Given the description of an element on the screen output the (x, y) to click on. 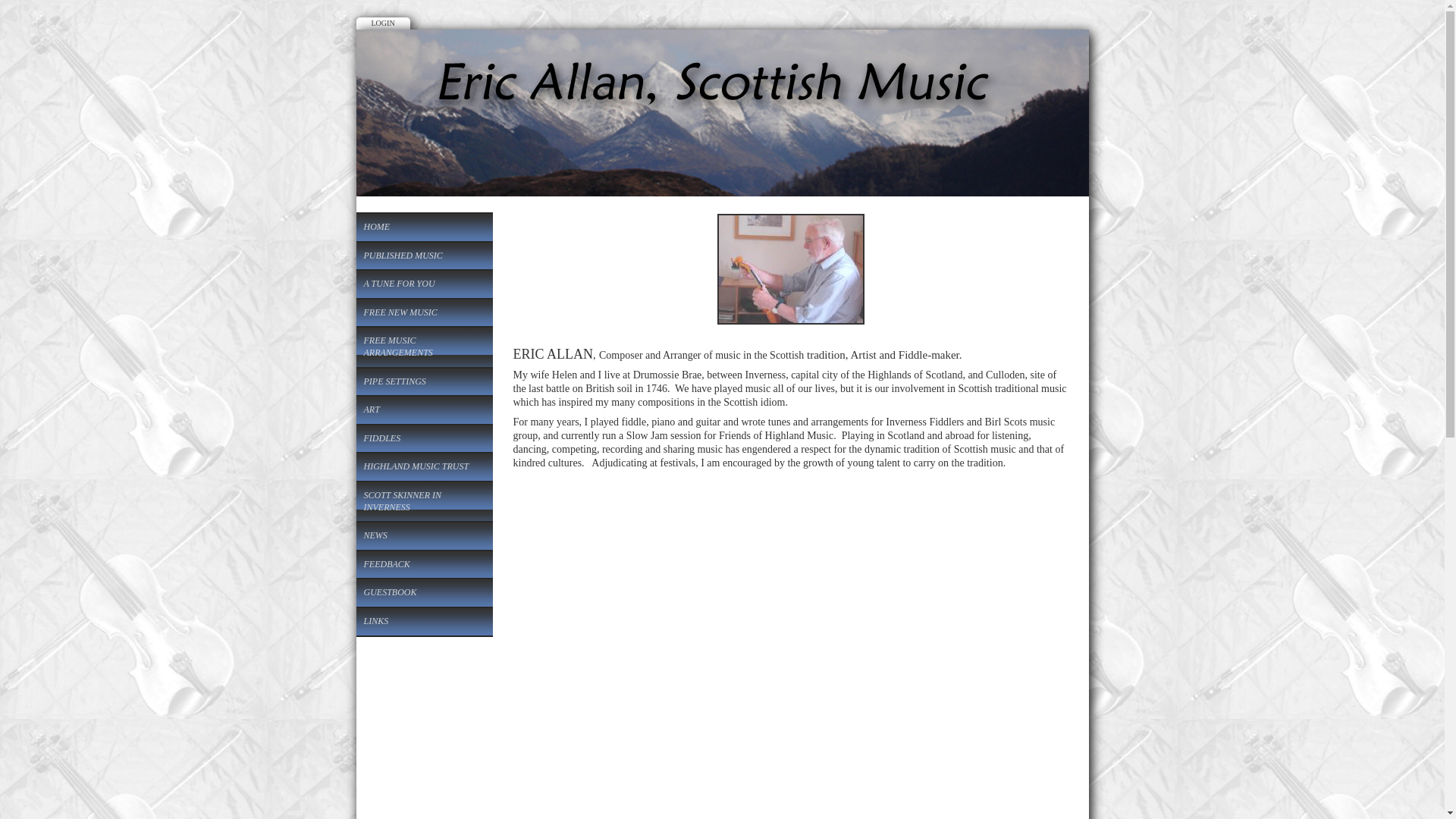
HIGHLAND MUSIC TRUST (424, 466)
GUESTBOOK (424, 592)
FIDDLES (424, 438)
Skip to Main Content (725, 10)
SCOTT SKINNER IN INVERNESS (424, 501)
FREE NEW MUSIC (424, 312)
PUBLISHED MUSIC (424, 256)
PIPE SETTINGS (424, 381)
LINKS (424, 621)
LOGIN (383, 23)
A TUNE FOR YOU (424, 284)
NEWS (424, 535)
HOME (424, 226)
FREE MUSIC ARRANGEMENTS (424, 346)
FEEDBACK (424, 564)
